Given the description of an element on the screen output the (x, y) to click on. 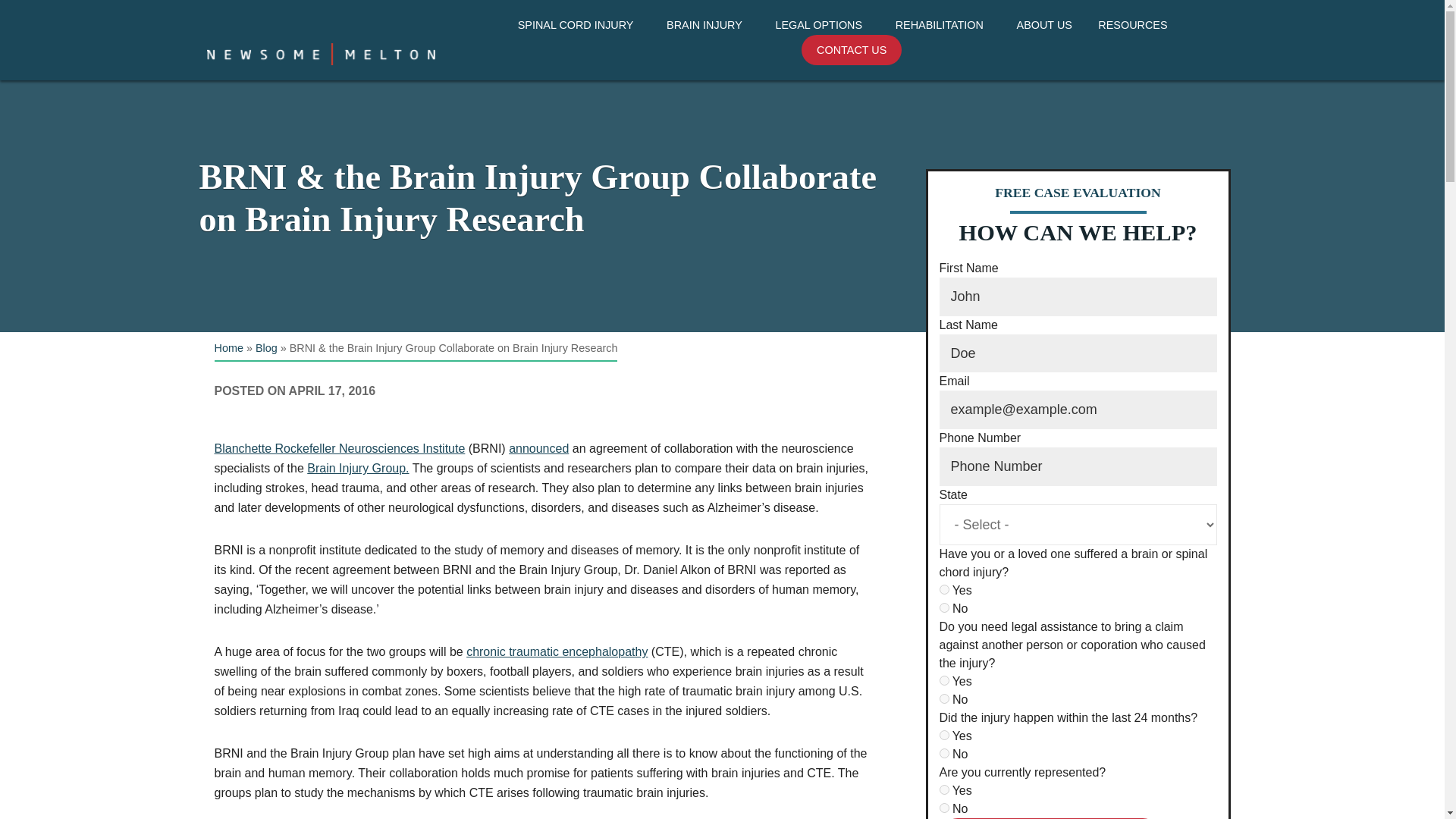
Attorney Directory (944, 53)
SPINAL CORD INJURY (579, 25)
Spinal Cord Injury Legal Information (824, 53)
yes (944, 735)
Spinal Cord and Brain Injury Rehabilitation in California (944, 62)
LEGAL OPTIONS (821, 25)
yes (944, 680)
yes (944, 789)
Stories (1086, 80)
no (944, 753)
